Given the description of an element on the screen output the (x, y) to click on. 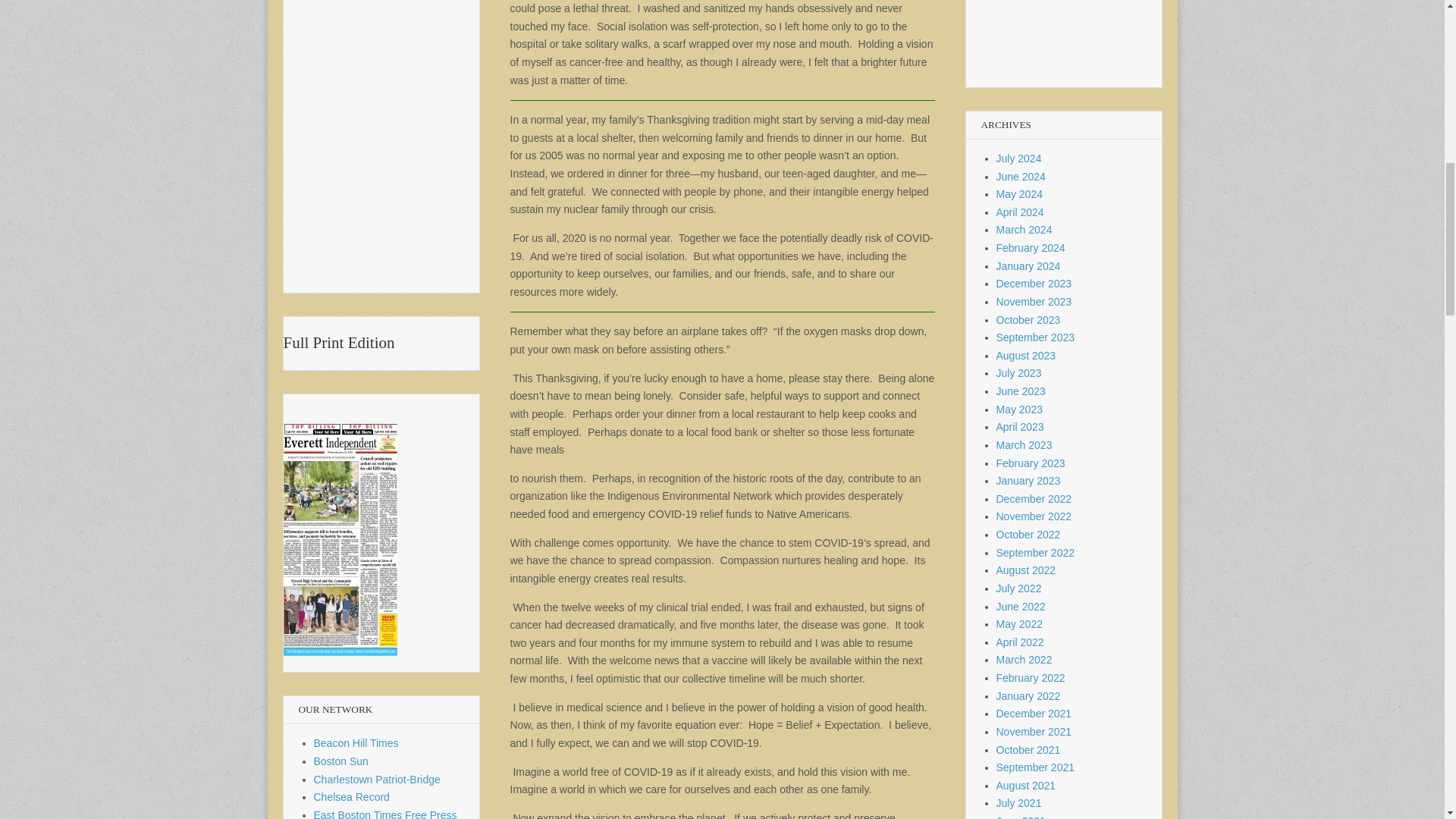
East Boston Times Free Press (385, 814)
Beacon Hill Times (356, 743)
Charlestown Patriot-Bridge (377, 779)
Boston Sun (341, 761)
Chelsea Record (352, 797)
